Given the description of an element on the screen output the (x, y) to click on. 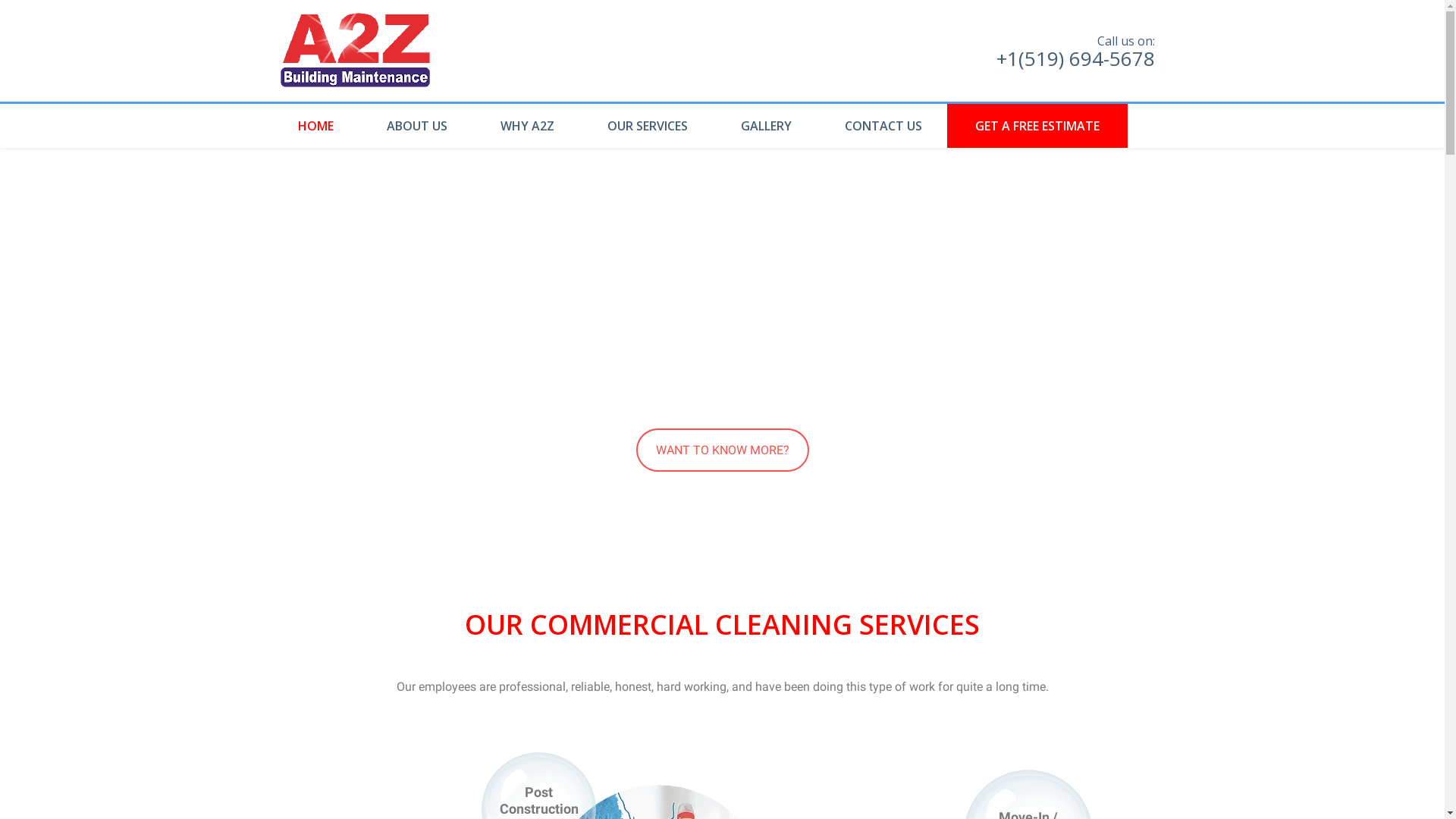
+1(519) 694-5678 Element type: text (1075, 58)
GALLERY Element type: text (765, 125)
GET A FREE ESTIMATE Element type: text (1036, 125)
WANT TO KNOW MORE? Element type: text (721, 449)
ABOUT US Element type: text (415, 125)
HOME Element type: text (320, 125)
OUR SERVICES Element type: text (647, 125)
WHY A2Z Element type: text (526, 125)
CONTACT US Element type: text (882, 125)
